Given the description of an element on the screen output the (x, y) to click on. 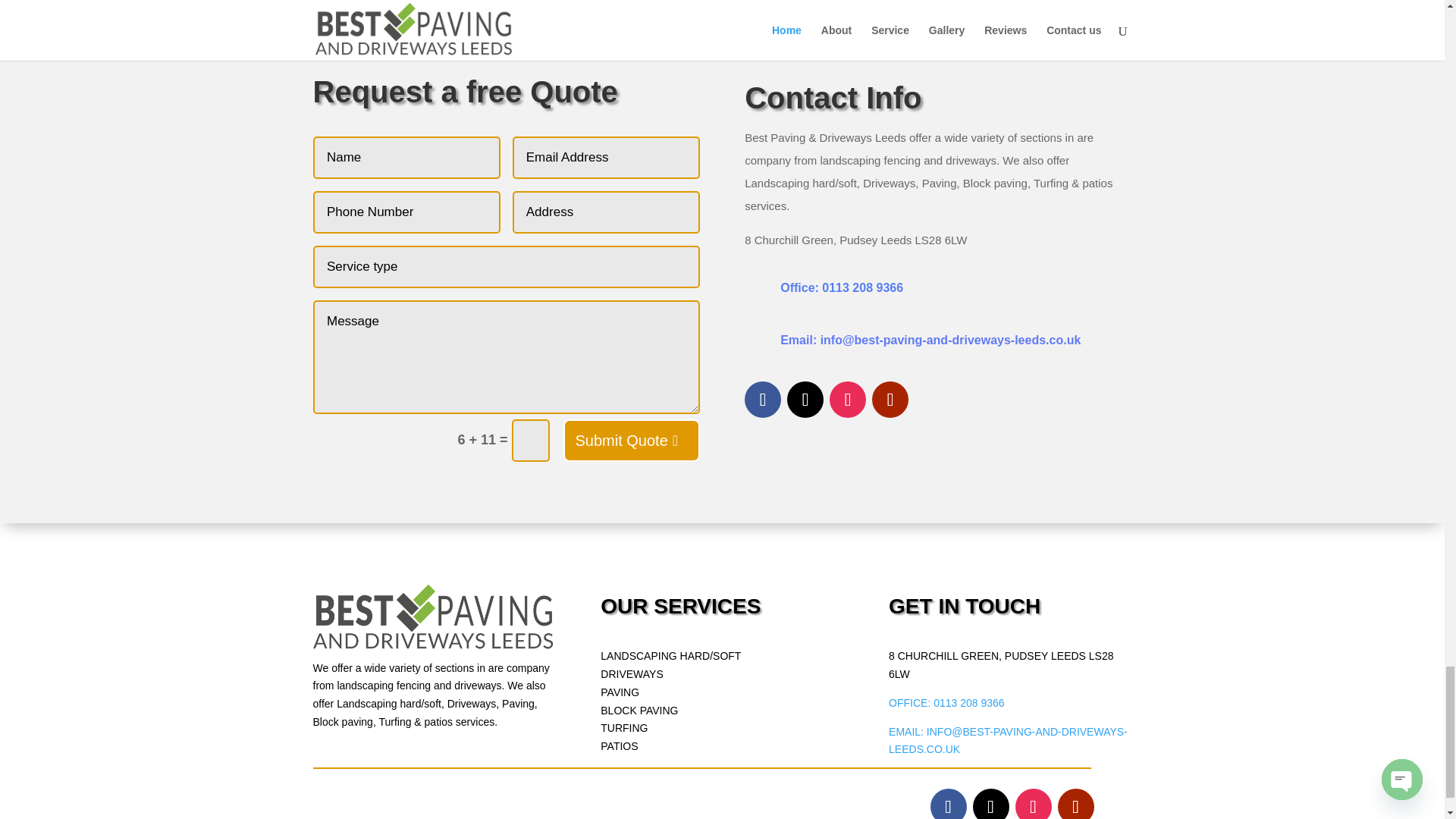
Follow on X (805, 399)
Follow on Facebook (762, 399)
Follow on Instagram (847, 399)
Submit Quote (630, 440)
